Given the description of an element on the screen output the (x, y) to click on. 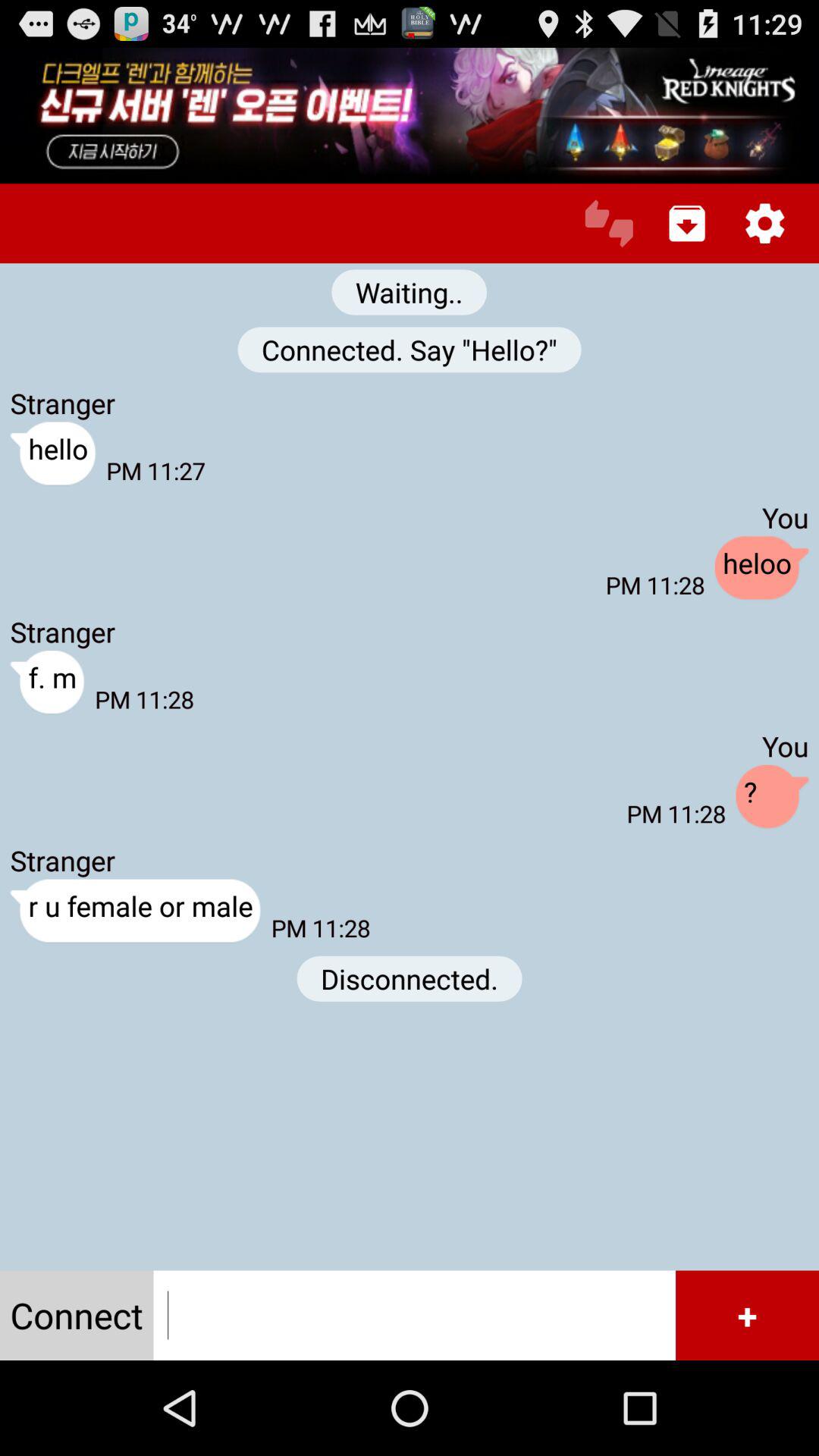
flip to heloo icon (761, 568)
